Given the description of an element on the screen output the (x, y) to click on. 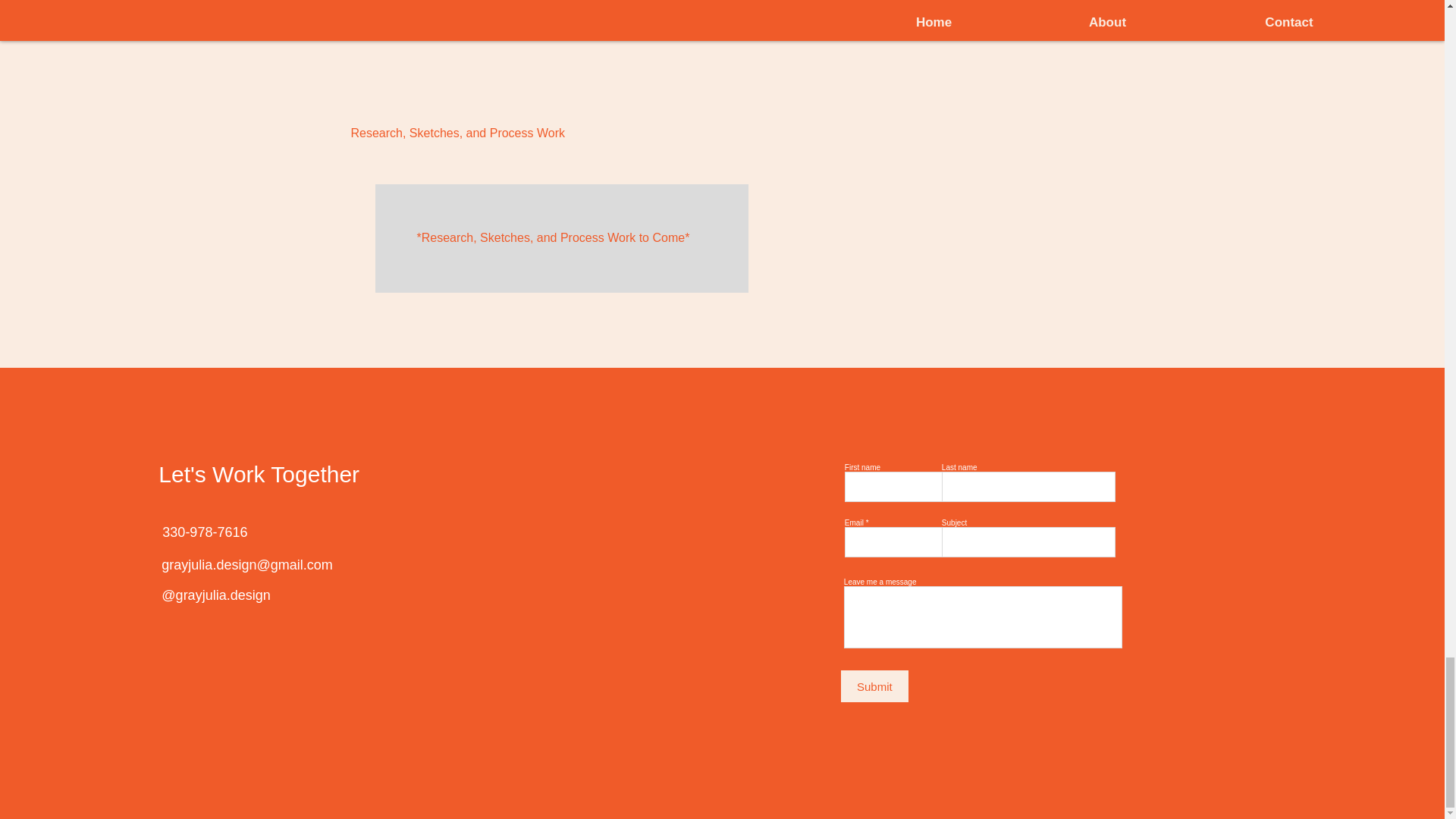
Submit (874, 685)
